Given the description of an element on the screen output the (x, y) to click on. 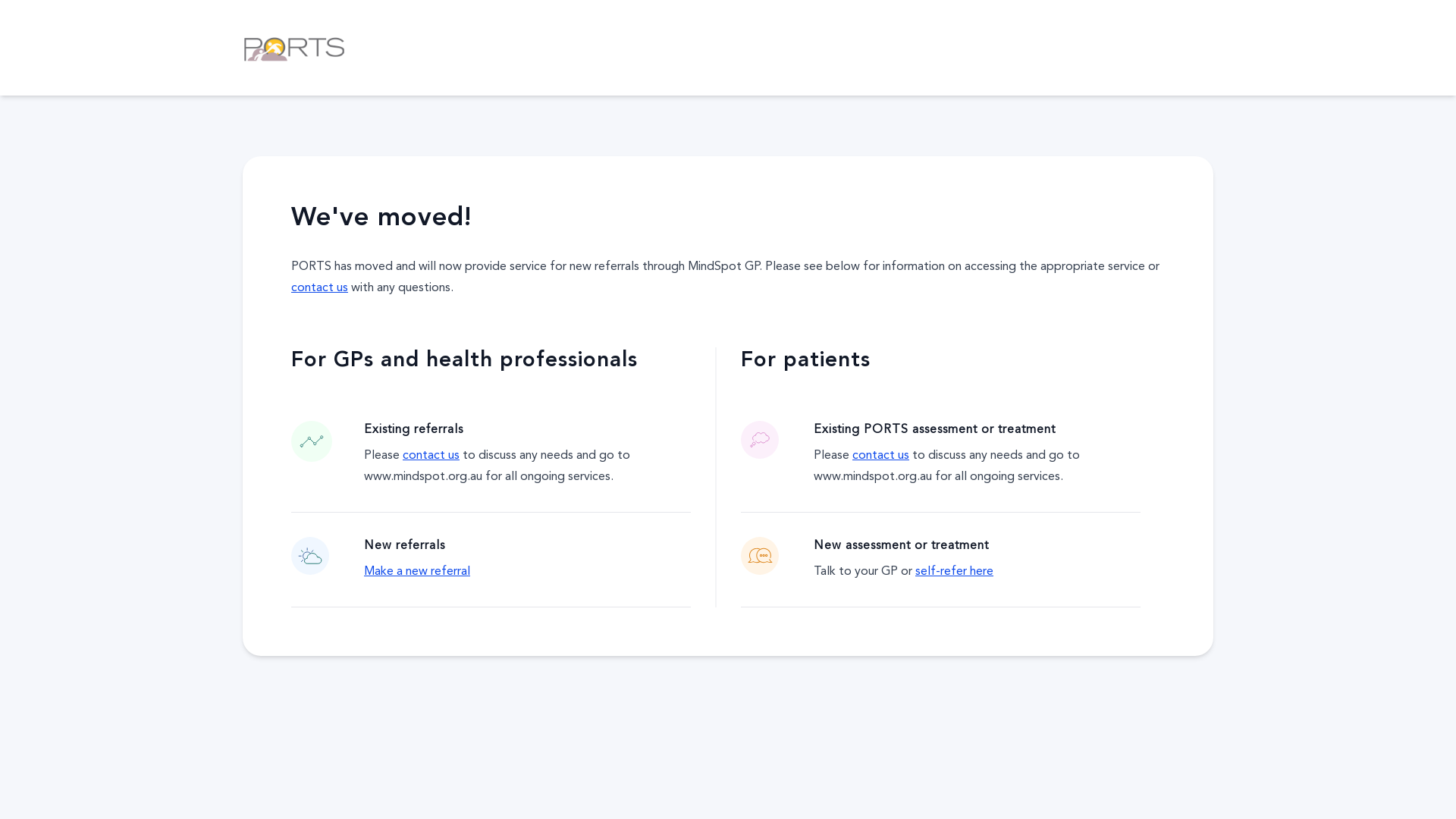
self-refer here Element type: text (954, 571)
Make a new referral Element type: text (417, 571)
contact us Element type: text (880, 455)
contact us Element type: text (430, 455)
contact us Element type: text (319, 288)
